Given the description of an element on the screen output the (x, y) to click on. 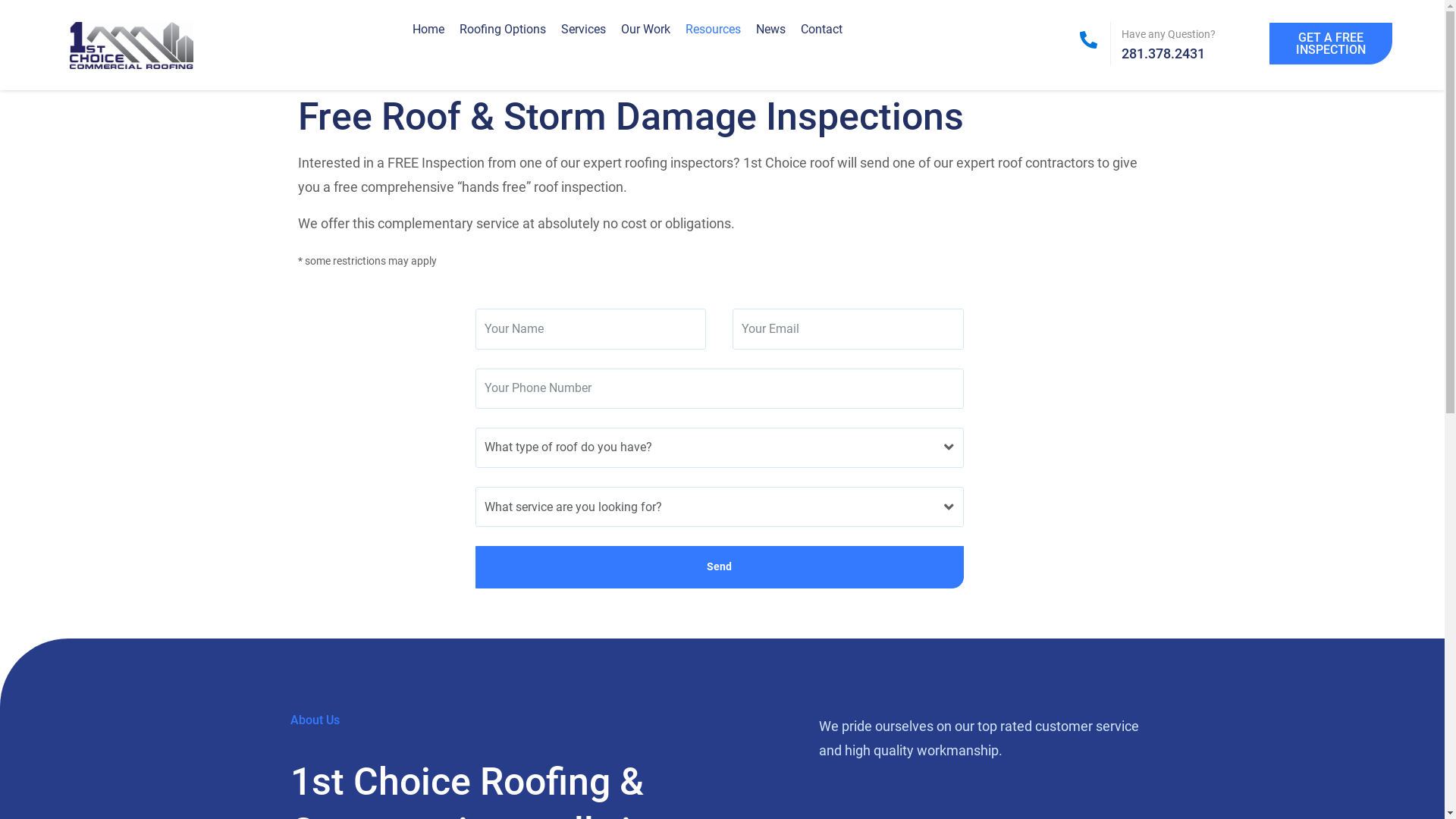
Contact Element type: text (821, 28)
Roofing Options Element type: text (502, 28)
News Element type: text (770, 28)
GET A FREE INSPECTION Element type: text (1330, 43)
Our Work Element type: text (645, 28)
Services Element type: text (583, 28)
Home Element type: text (428, 28)
Resources Element type: text (712, 28)
Send Element type: text (718, 566)
